Given the description of an element on the screen output the (x, y) to click on. 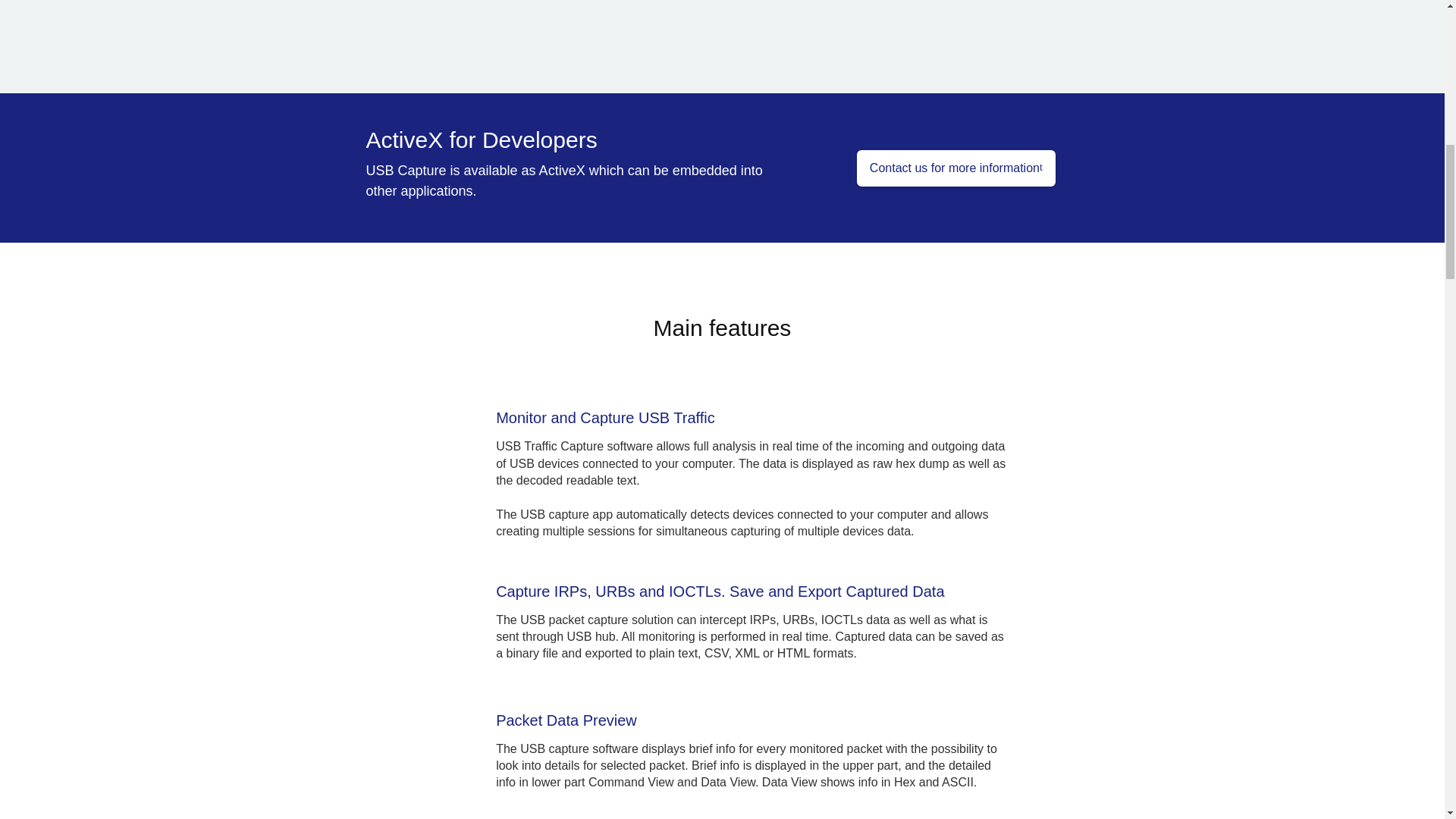
OK (1040, 735)
Policy (539, 743)
here (539, 743)
